Given the description of an element on the screen output the (x, y) to click on. 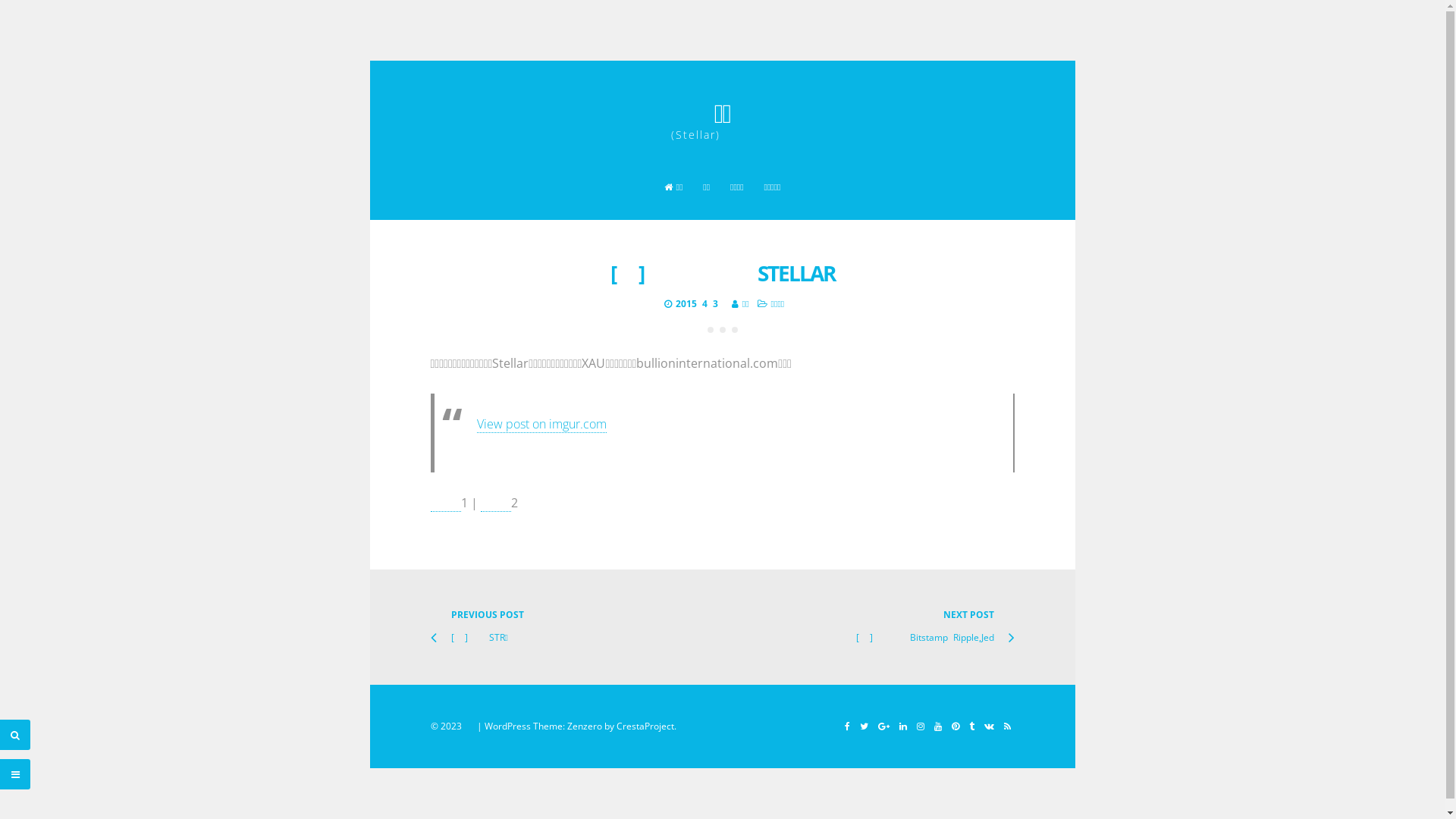
Google Plus Element type: text (882, 725)
Instagram Element type: text (920, 725)
Pinterest Element type: text (955, 725)
YouTube Element type: text (936, 725)
Linkedin Element type: text (902, 725)
Tumblr Element type: text (970, 725)
VK Element type: text (988, 725)
RSS Element type: text (1006, 725)
View post on imgur.com Element type: text (540, 424)
Twitter Element type: text (863, 725)
Zenzero Element type: text (584, 725)
Facebook Element type: text (846, 725)
